Given the description of an element on the screen output the (x, y) to click on. 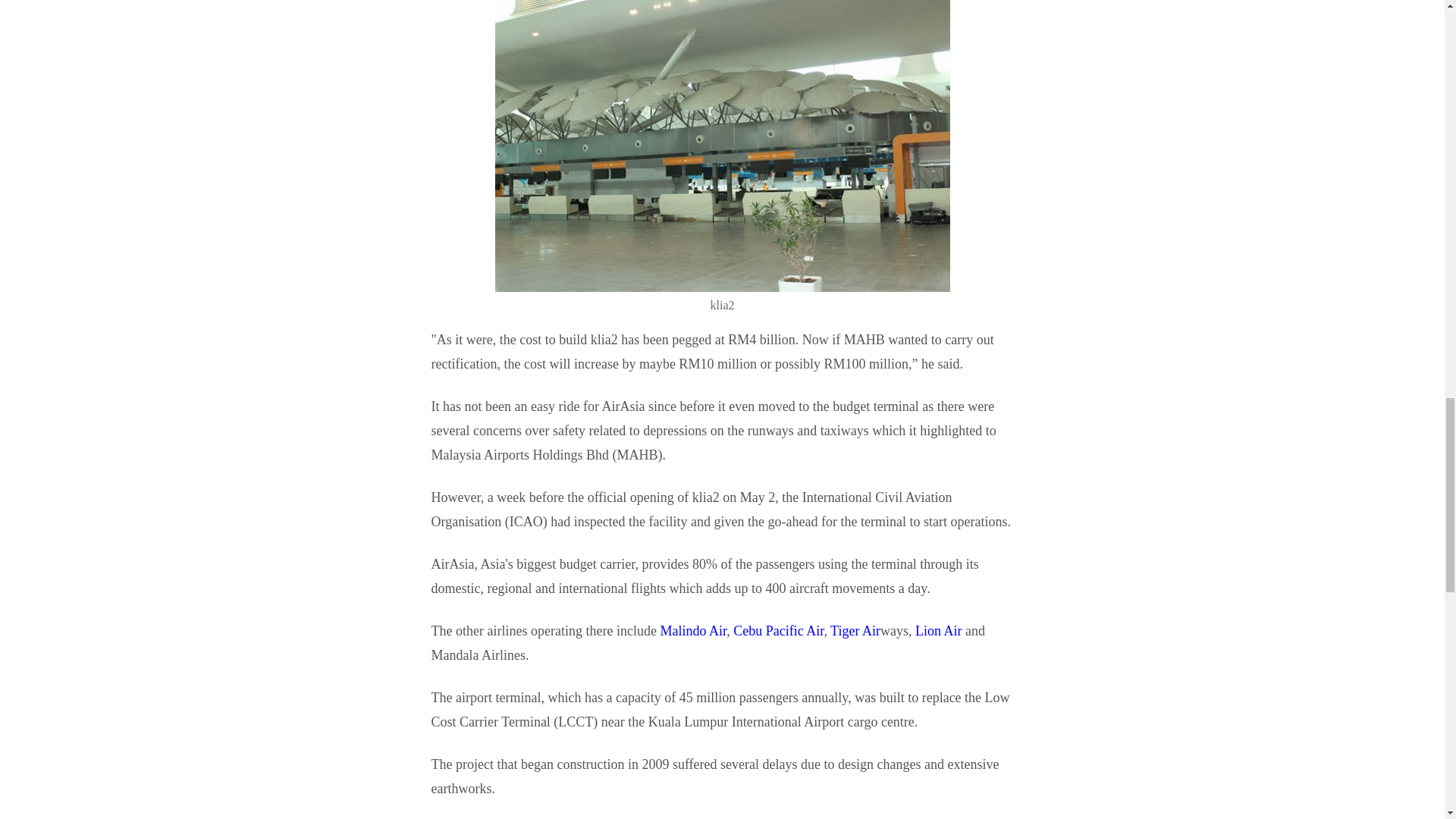
Tiger Air (854, 630)
Malindo Air (692, 630)
Cebu Pacific Air (778, 630)
Lion Air (938, 630)
